Given the description of an element on the screen output the (x, y) to click on. 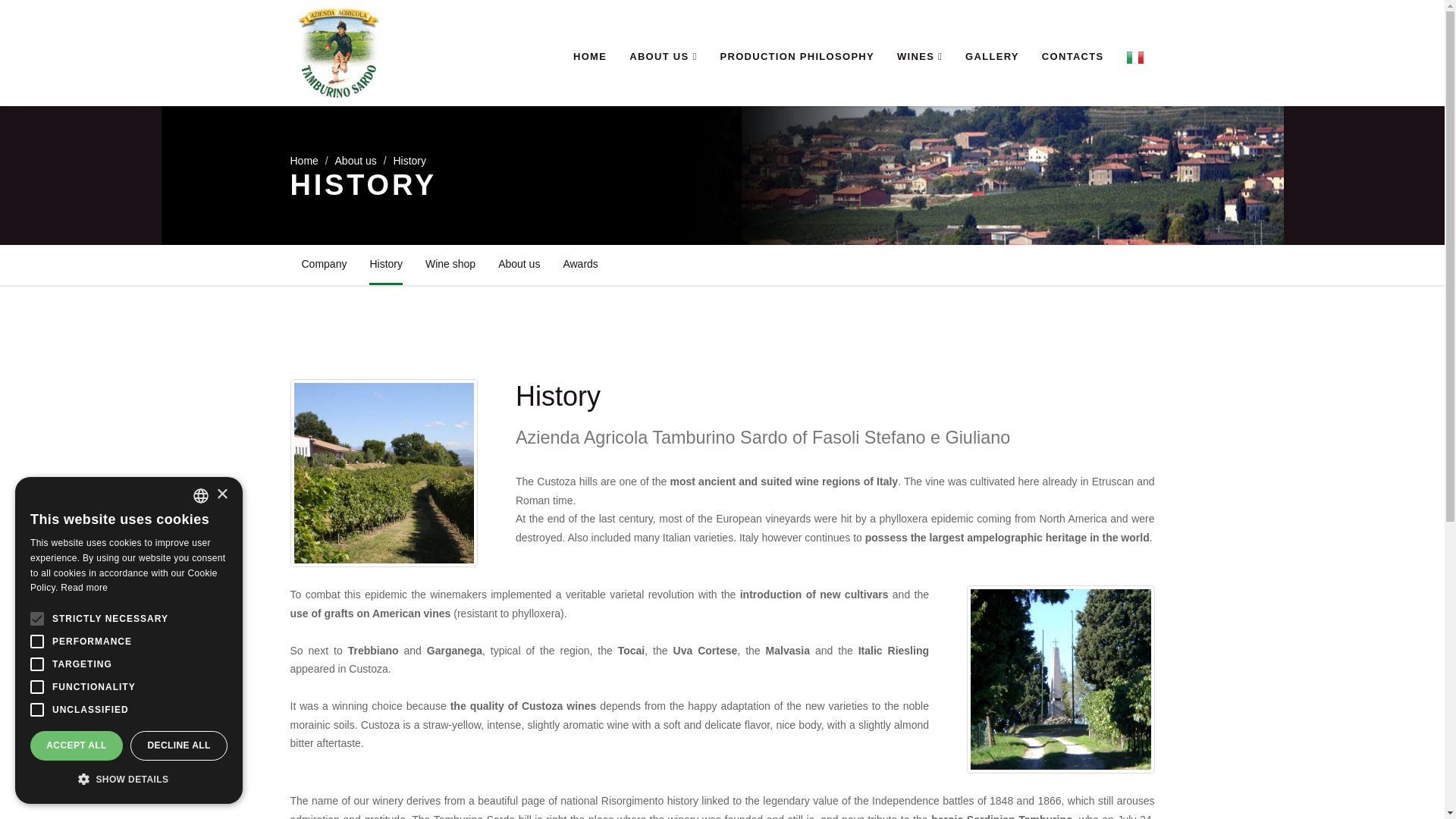
Home (303, 160)
WINES (919, 57)
Awards (579, 264)
PRODUCTION PHILOSOPHY (796, 57)
CONTACTS (1072, 57)
HOME (589, 57)
Wine shop (449, 264)
ABOUT US (662, 57)
About us (518, 264)
Company (323, 264)
GALLERY (991, 57)
